Given the description of an element on the screen output the (x, y) to click on. 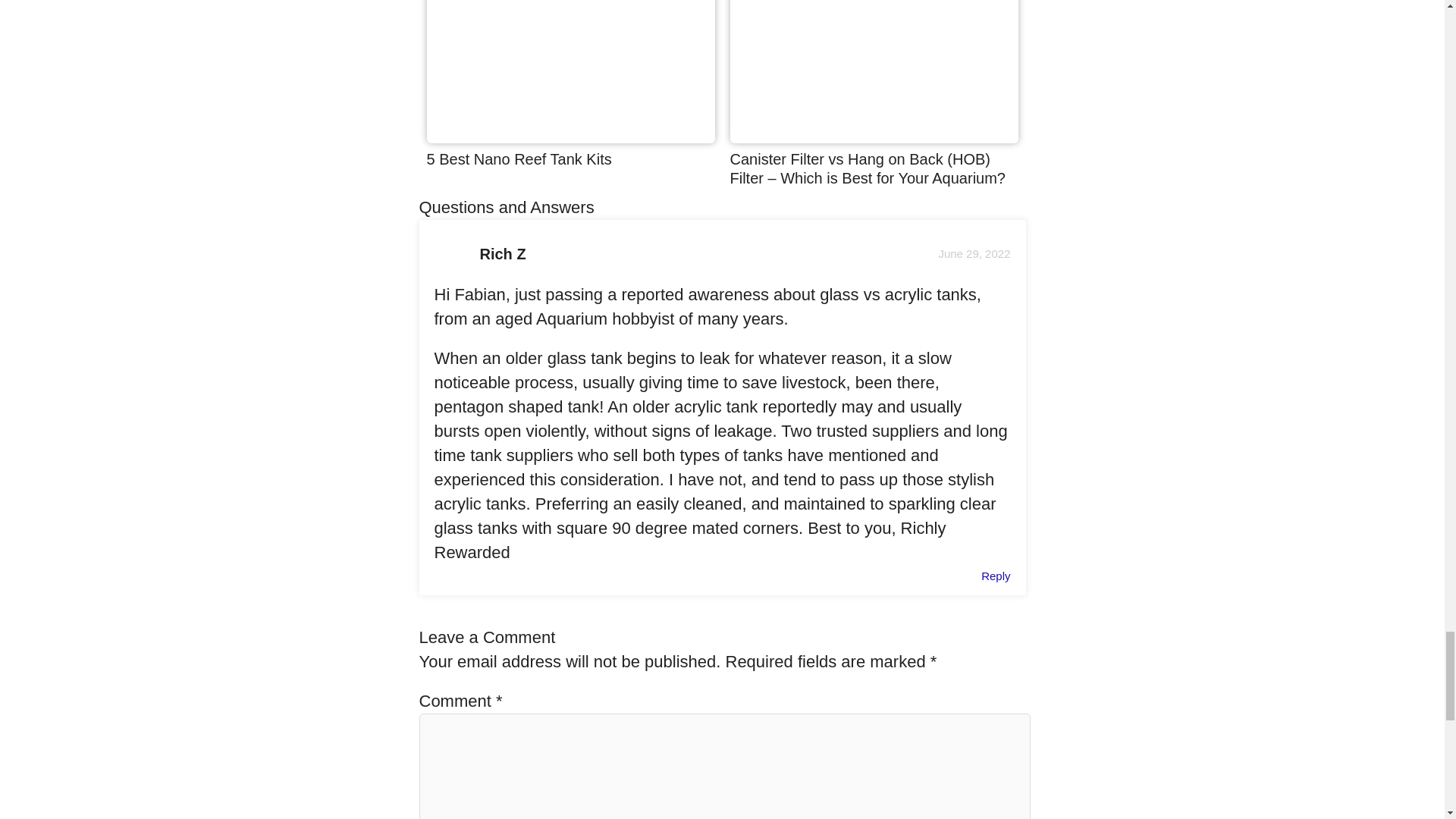
5 Best Nano Reef Tank Kits (518, 158)
5 Best Nano Reef Tank Kits (518, 158)
Reply (995, 575)
June 29, 2022 (973, 253)
5 Best Nano Reef Tank Kits (570, 137)
